Given the description of an element on the screen output the (x, y) to click on. 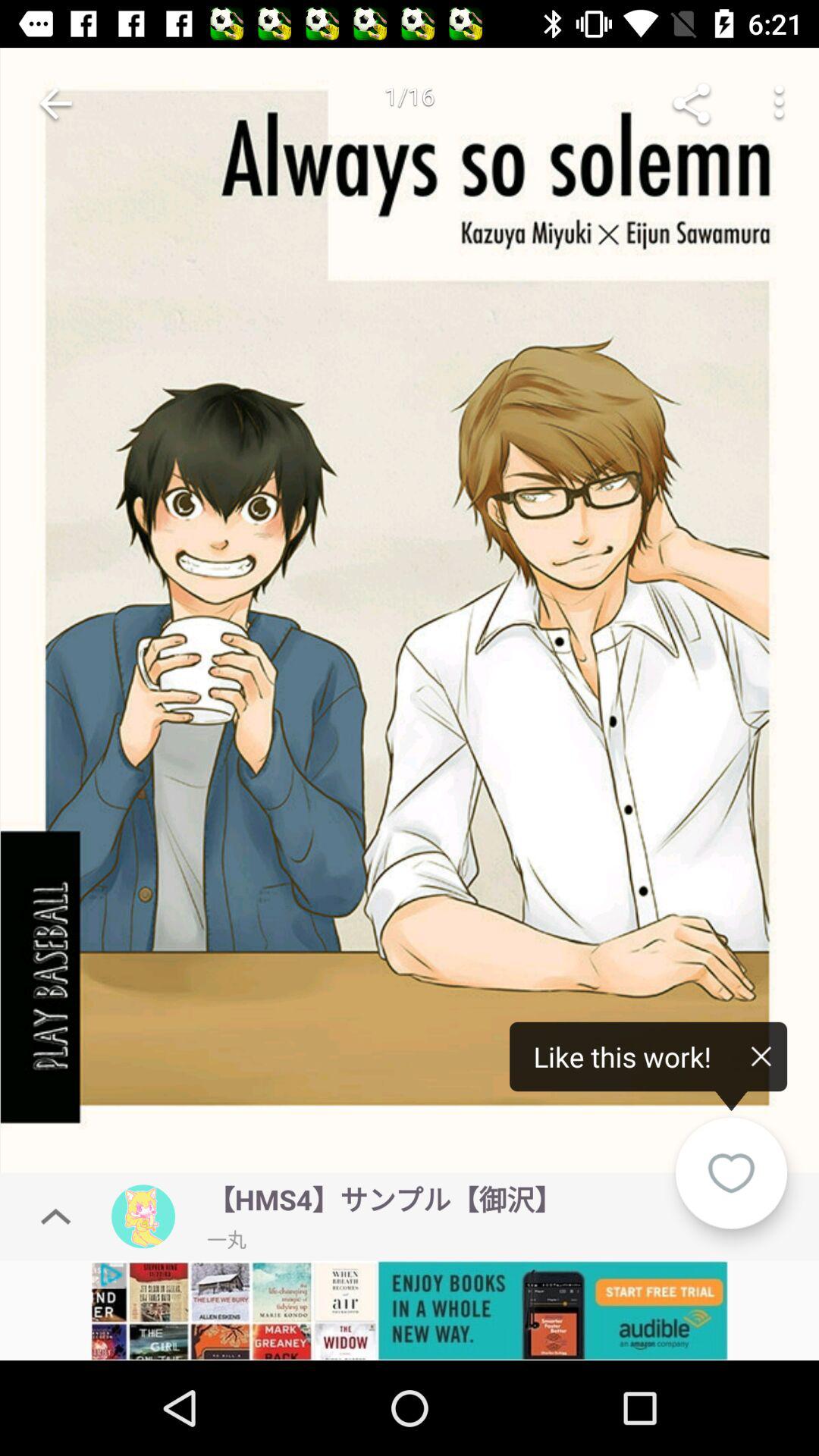
share work (691, 103)
